Given the description of an element on the screen output the (x, y) to click on. 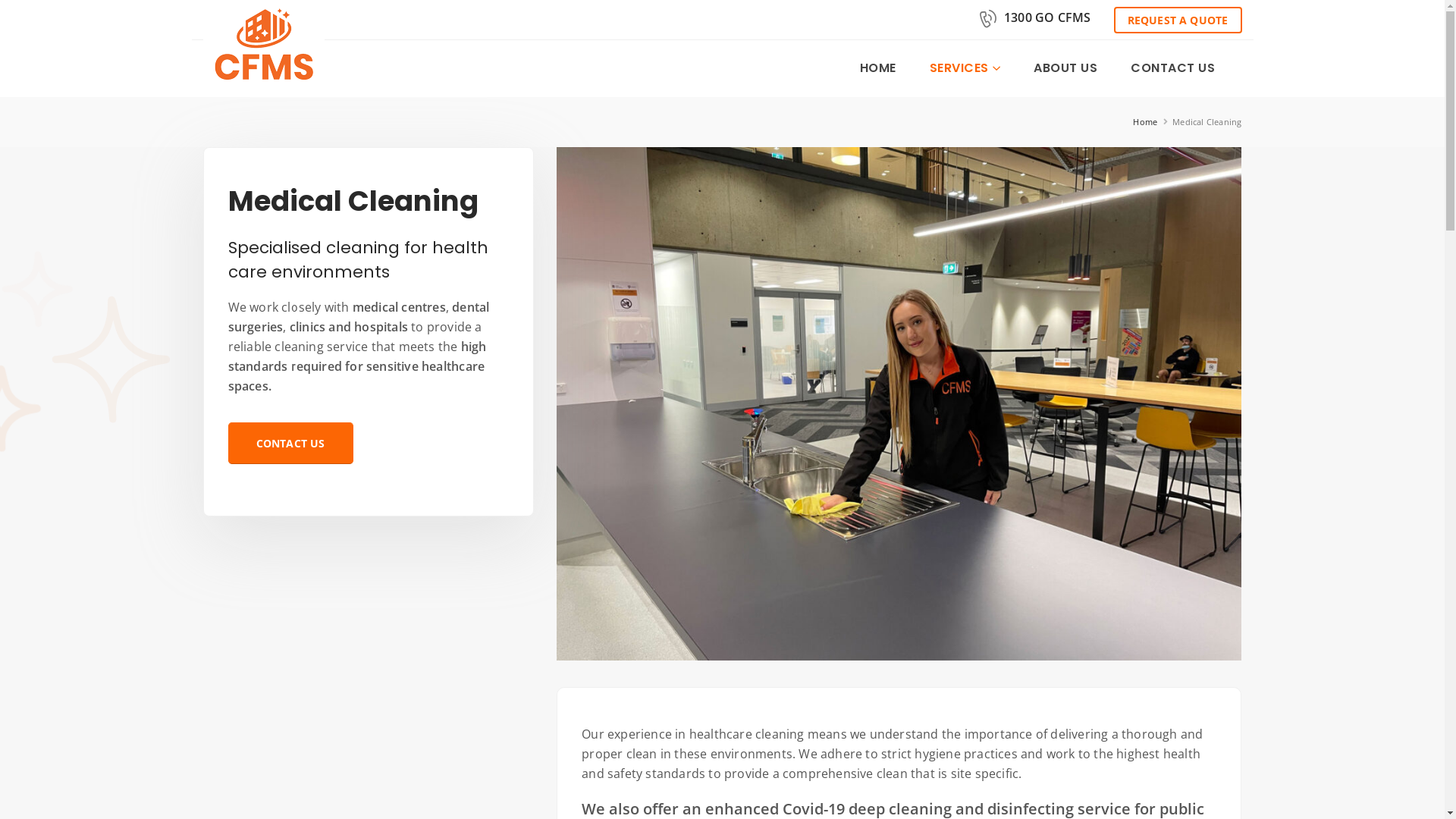
HOME Element type: text (877, 68)
ABOUT US Element type: text (1065, 68)
SERVICES Element type: text (964, 68)
1300 GO CFMS Element type: text (1037, 19)
REQUEST A QUOTE Element type: text (1177, 19)
Home Element type: text (1144, 121)
CONTACT US Element type: text (289, 443)
CONTACT US Element type: text (1172, 68)
